Given the description of an element on the screen output the (x, y) to click on. 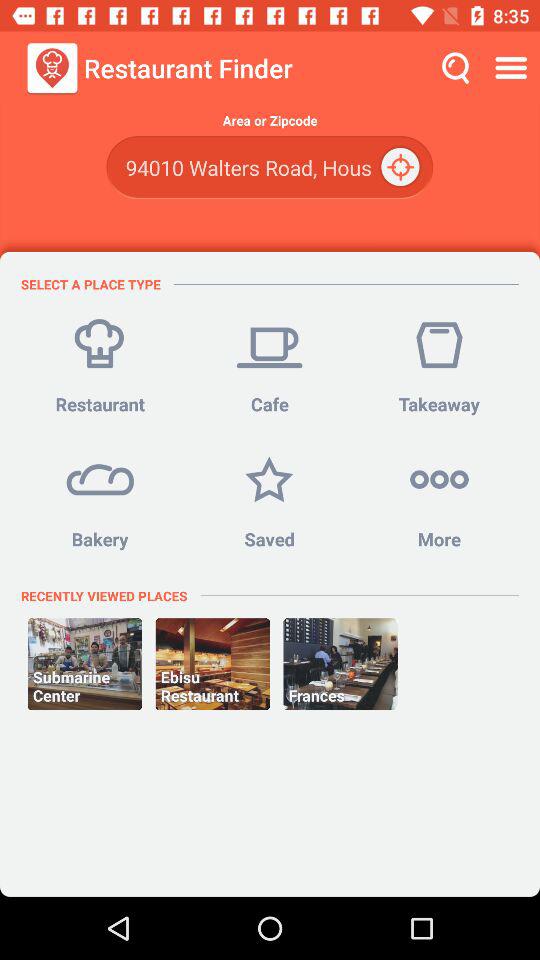
turn on the item above select a place (269, 167)
